Given the description of an element on the screen output the (x, y) to click on. 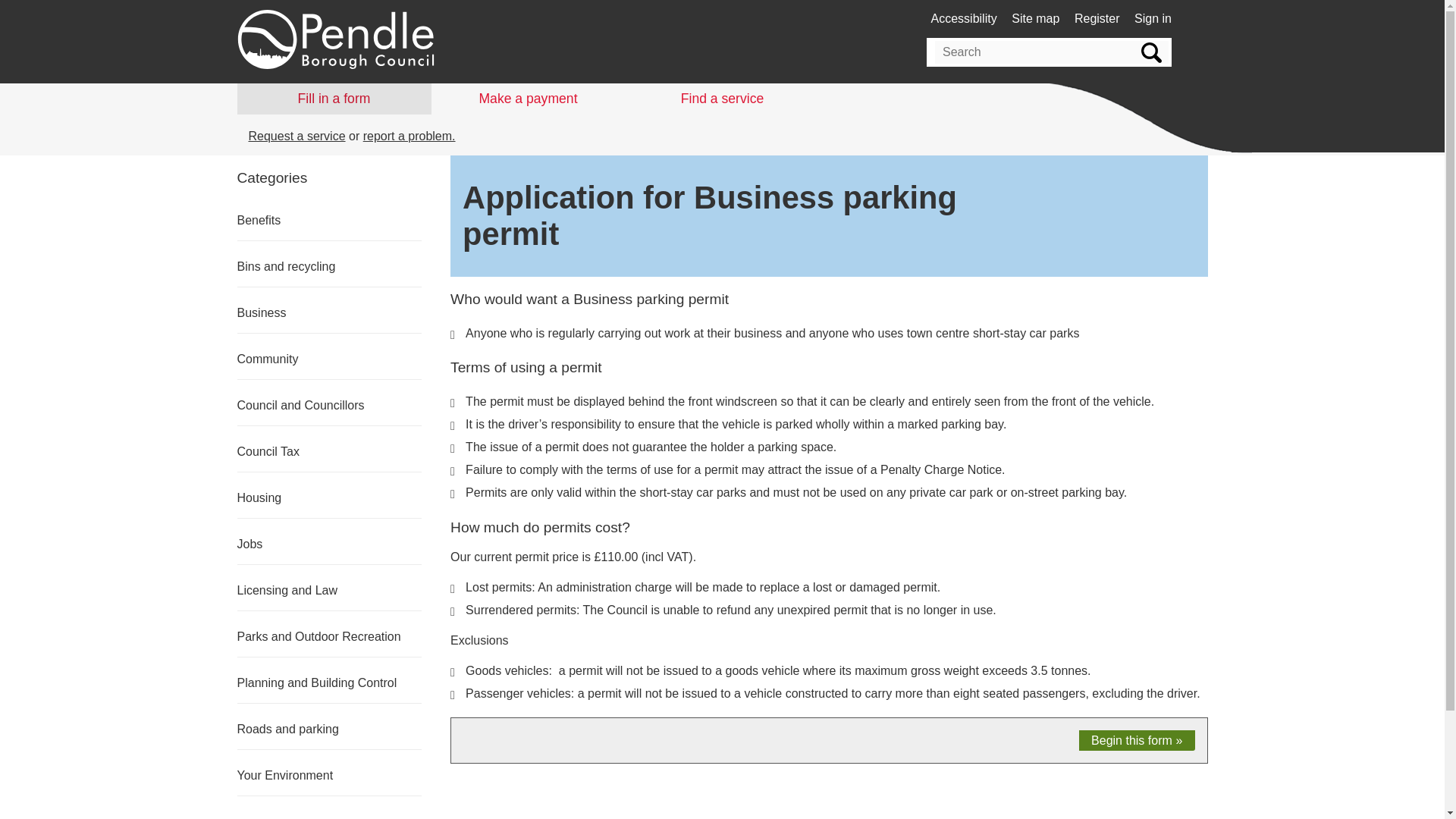
Request a service (297, 135)
Council and Councillors (299, 404)
Roads and parking (286, 728)
Go (1149, 51)
Go (1149, 51)
Go (1149, 51)
report a problem. (408, 135)
Business (260, 312)
Begin this form (1135, 740)
Sign in (1153, 18)
